Given the description of an element on the screen output the (x, y) to click on. 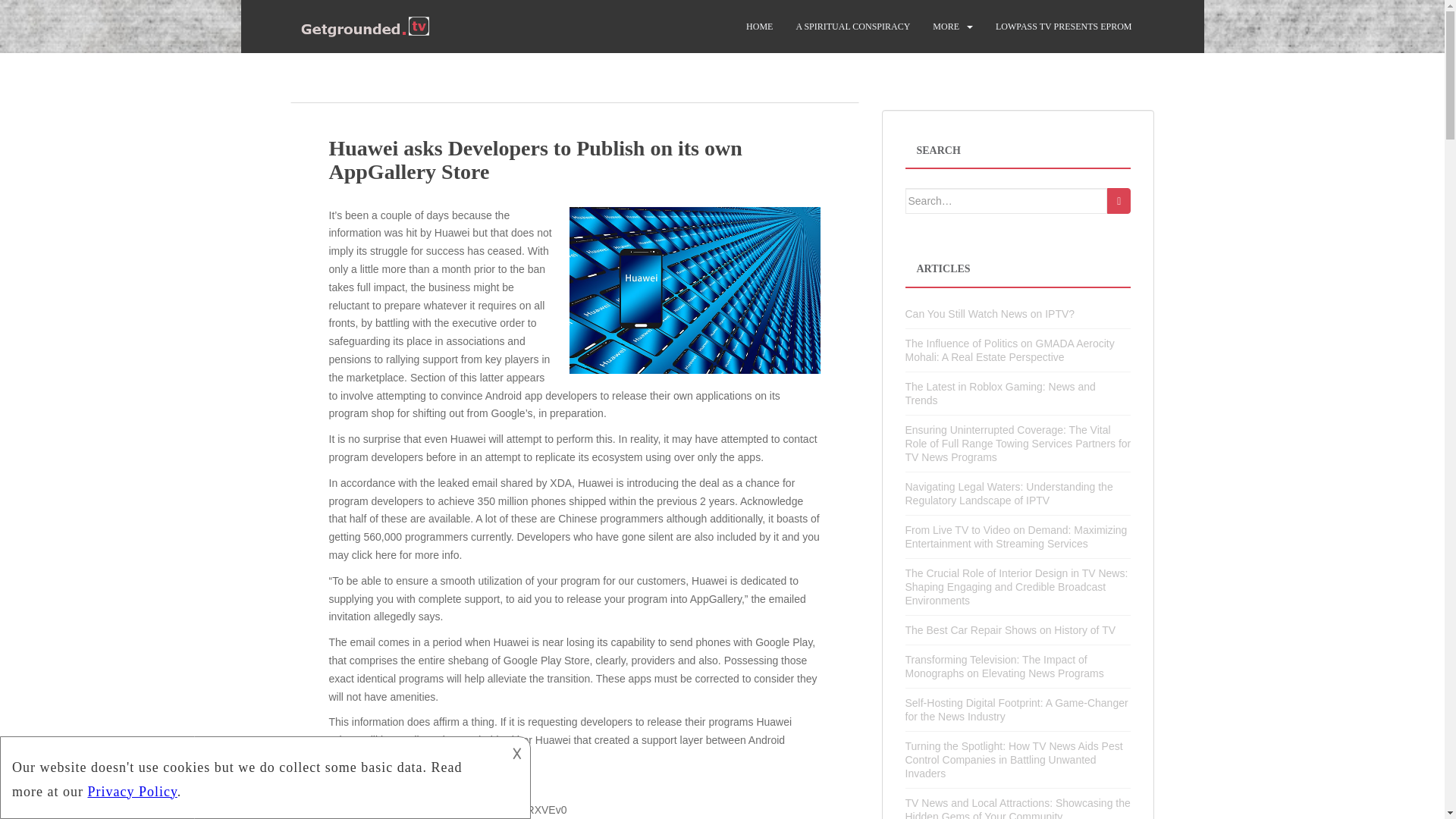
Search (1118, 200)
The Best Car Repair Shows on History of TV (1010, 630)
The Latest in Roblox Gaming: News and Trends (1000, 393)
A SPIRITUAL CONSPIRACY (852, 26)
description (252, 775)
Can You Still Watch News on IPTV? (990, 313)
